Given the description of an element on the screen output the (x, y) to click on. 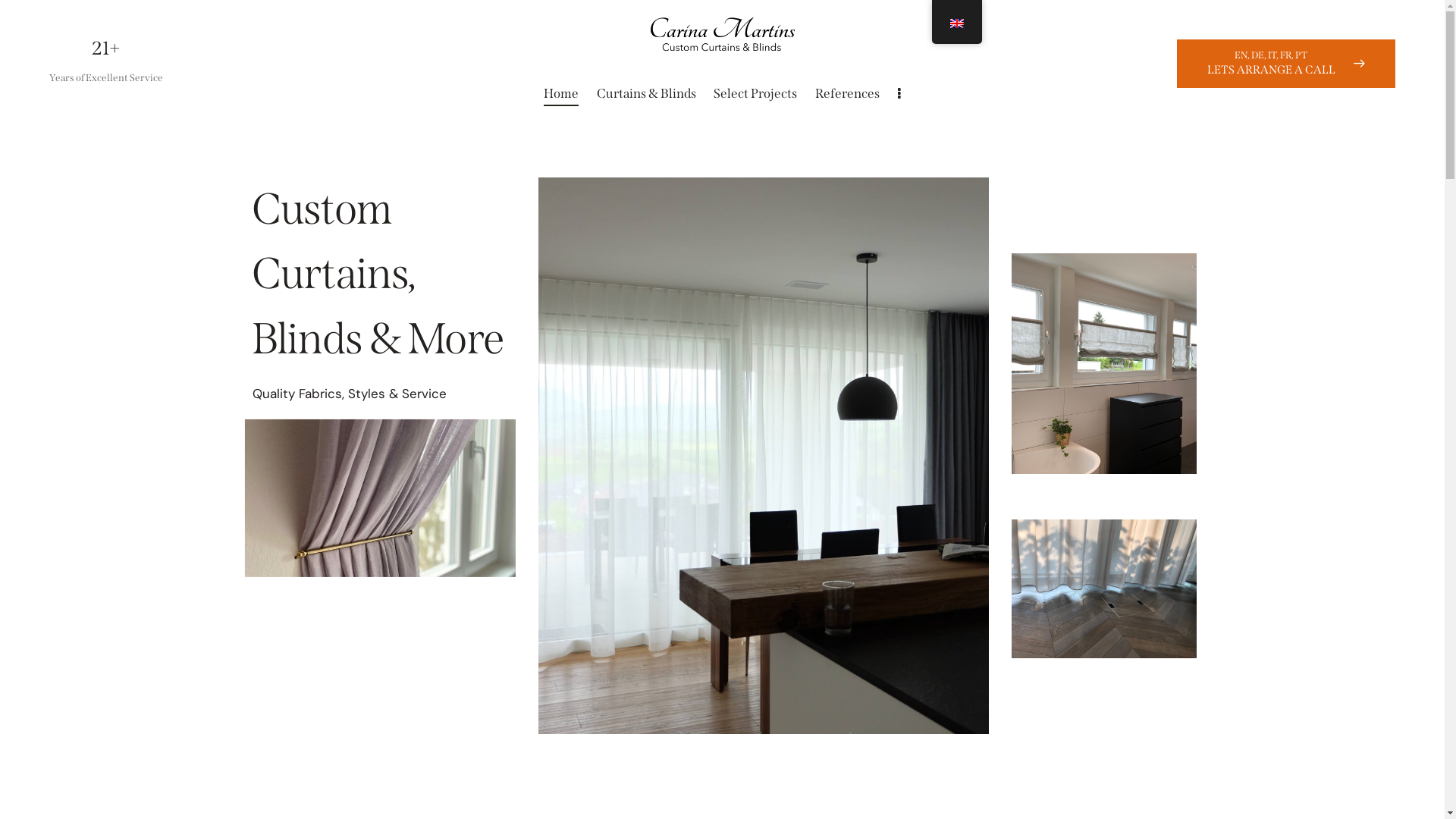
Home Element type: text (560, 94)
English Element type: hover (956, 23)
EN, DE, IT, FR, PT
LETS ARRANGE A CALL Element type: text (1285, 63)
Curtains & Blinds Element type: text (646, 94)
References Element type: text (847, 94)
Select Projects Element type: text (755, 94)
